Given the description of an element on the screen output the (x, y) to click on. 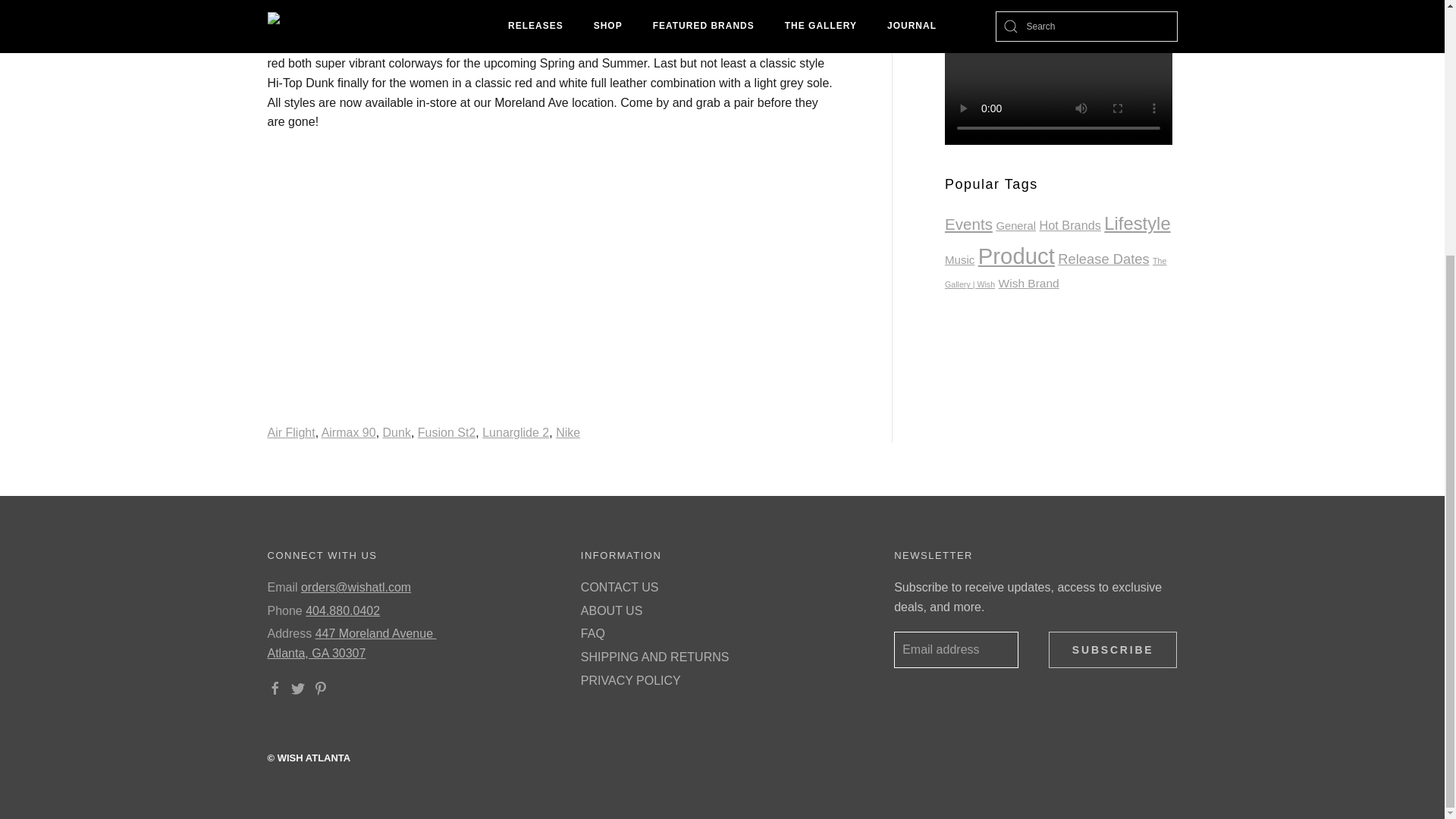
Nike (567, 431)
Air Flight (290, 431)
Dunk (396, 431)
Fusion St2 (446, 431)
Music (959, 259)
Wish Brand (1028, 282)
Lunarglide 2 (514, 431)
Events (968, 223)
Airmax 90 (348, 431)
Lifestyle (1136, 222)
